Given the description of an element on the screen output the (x, y) to click on. 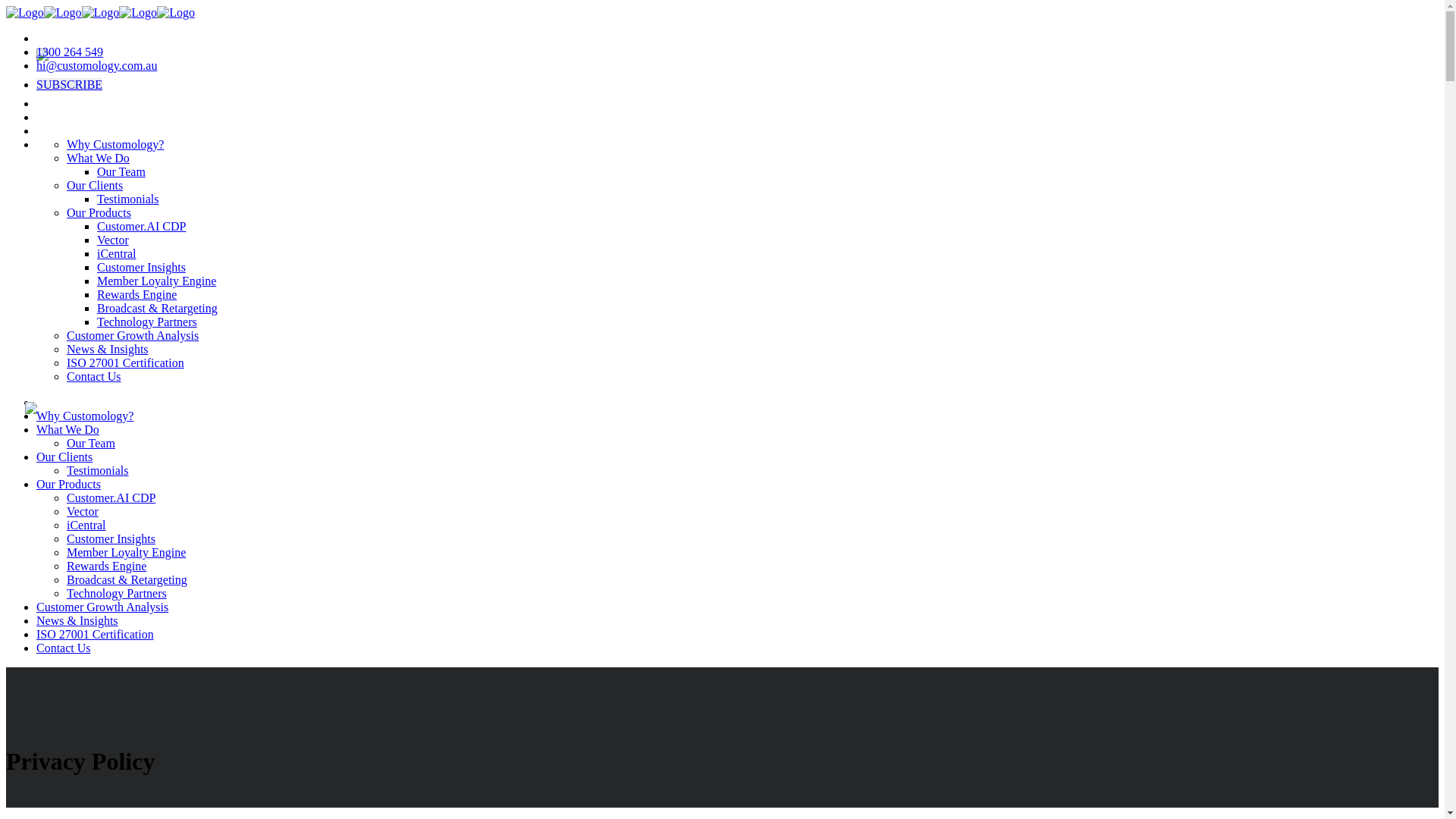
Contact Us Element type: text (93, 376)
Technology Partners Element type: text (147, 321)
iCentral Element type: text (86, 524)
News & Insights Element type: text (107, 348)
SUBSCRIBE Element type: text (69, 84)
Why Customology? Element type: text (84, 415)
Contact Us Element type: text (63, 647)
Technology Partners Element type: text (116, 592)
Our Clients Element type: text (64, 456)
Testimonials Element type: text (97, 470)
hi@customology.com.au Element type: text (96, 65)
What We Do Element type: text (67, 429)
Broadcast & Retargeting Element type: text (157, 307)
Rewards Engine Element type: text (136, 294)
ISO 27001 Certification Element type: text (125, 362)
Customer Insights Element type: text (110, 538)
Customer Growth Analysis Element type: text (132, 335)
Member Loyalty Engine Element type: text (125, 552)
Rewards Engine Element type: text (106, 565)
iCentral Element type: text (116, 253)
Customer Insights Element type: text (141, 266)
News & Insights Element type: text (77, 620)
Our Team Element type: text (90, 442)
Customer.AI CDP Element type: text (110, 497)
Our Clients Element type: text (94, 184)
Vector Element type: text (82, 511)
Customer.AI CDP Element type: text (141, 225)
Our Products Element type: text (98, 212)
What We Do Element type: text (97, 157)
1300 264 549 Element type: text (69, 51)
Testimonials Element type: text (128, 198)
Vector Element type: text (112, 239)
Member Loyalty Engine Element type: text (156, 280)
Why Customology? Element type: text (114, 144)
Broadcast & Retargeting Element type: text (126, 579)
ISO 27001 Certification Element type: text (94, 633)
Customer Growth Analysis Element type: text (102, 606)
Our Products Element type: text (68, 483)
Our Team Element type: text (121, 171)
